Given the description of an element on the screen output the (x, y) to click on. 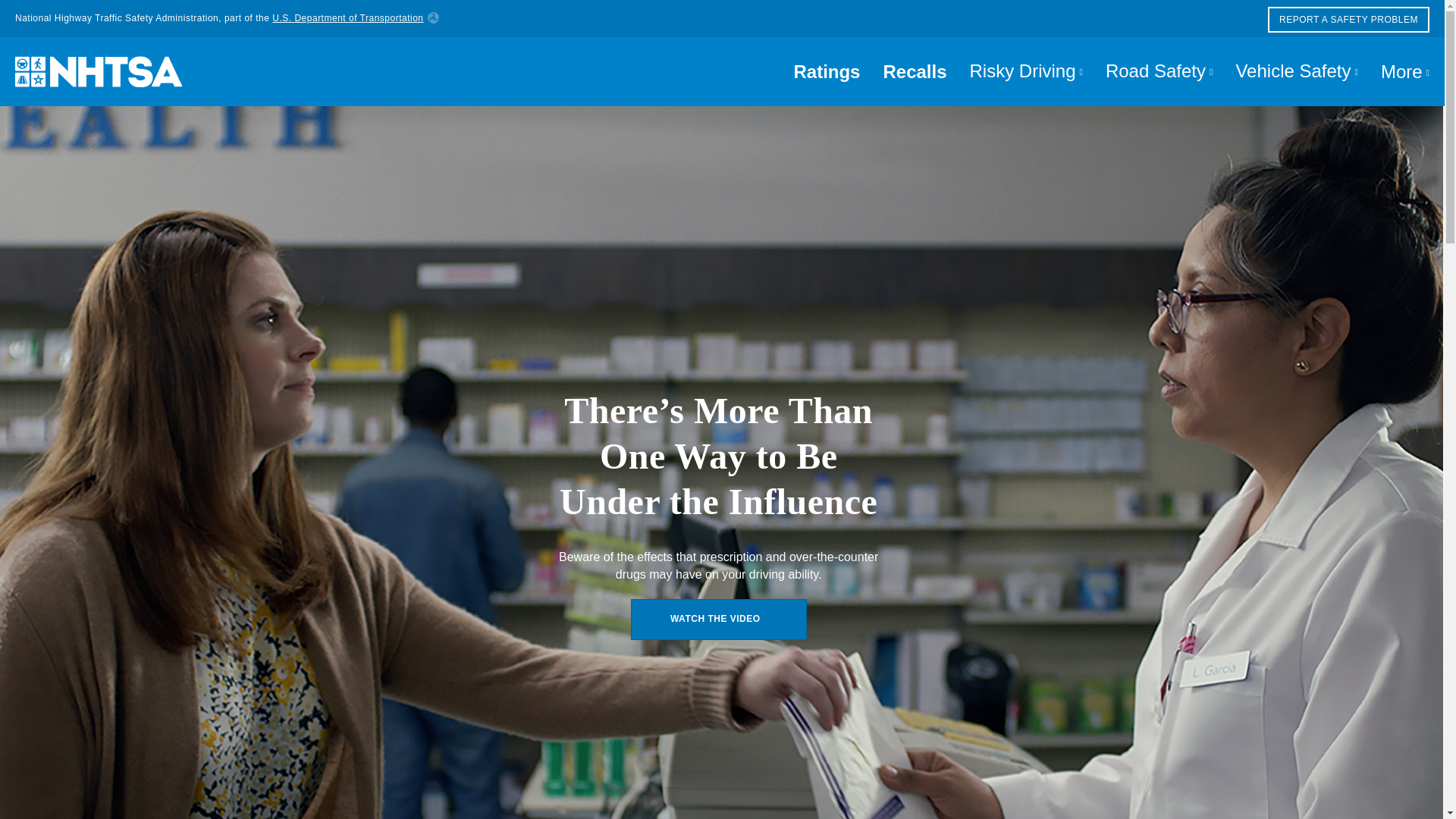
Homepage (91, 71)
Recalls (914, 71)
REPORT A SAFETY PROBLEM (1348, 19)
Risky Driving (1026, 71)
More (1399, 71)
Ratings (825, 71)
Vehicle Safety (1297, 71)
Road Safety (1159, 71)
U.S. Department of Transportation (355, 18)
